Given the description of an element on the screen output the (x, y) to click on. 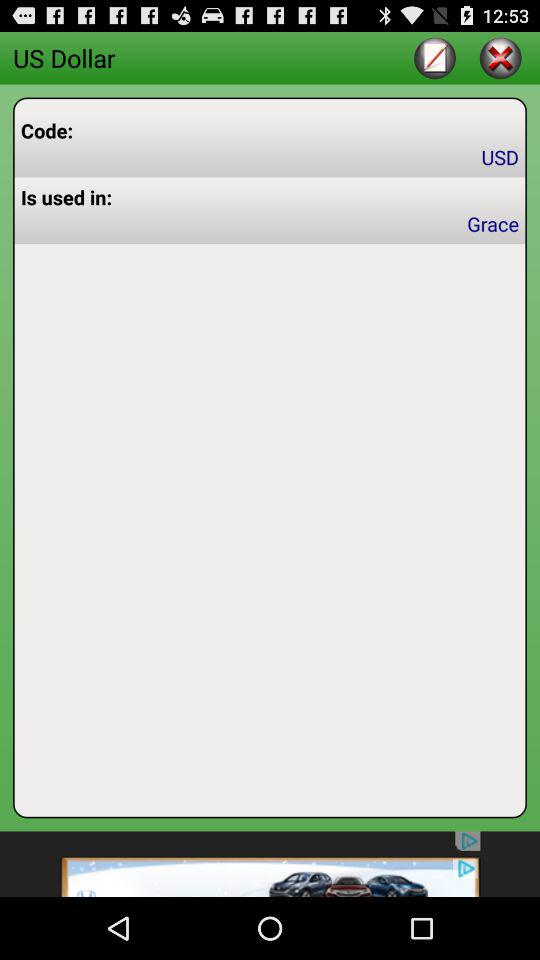
advertisement on an app (270, 864)
